Given the description of an element on the screen output the (x, y) to click on. 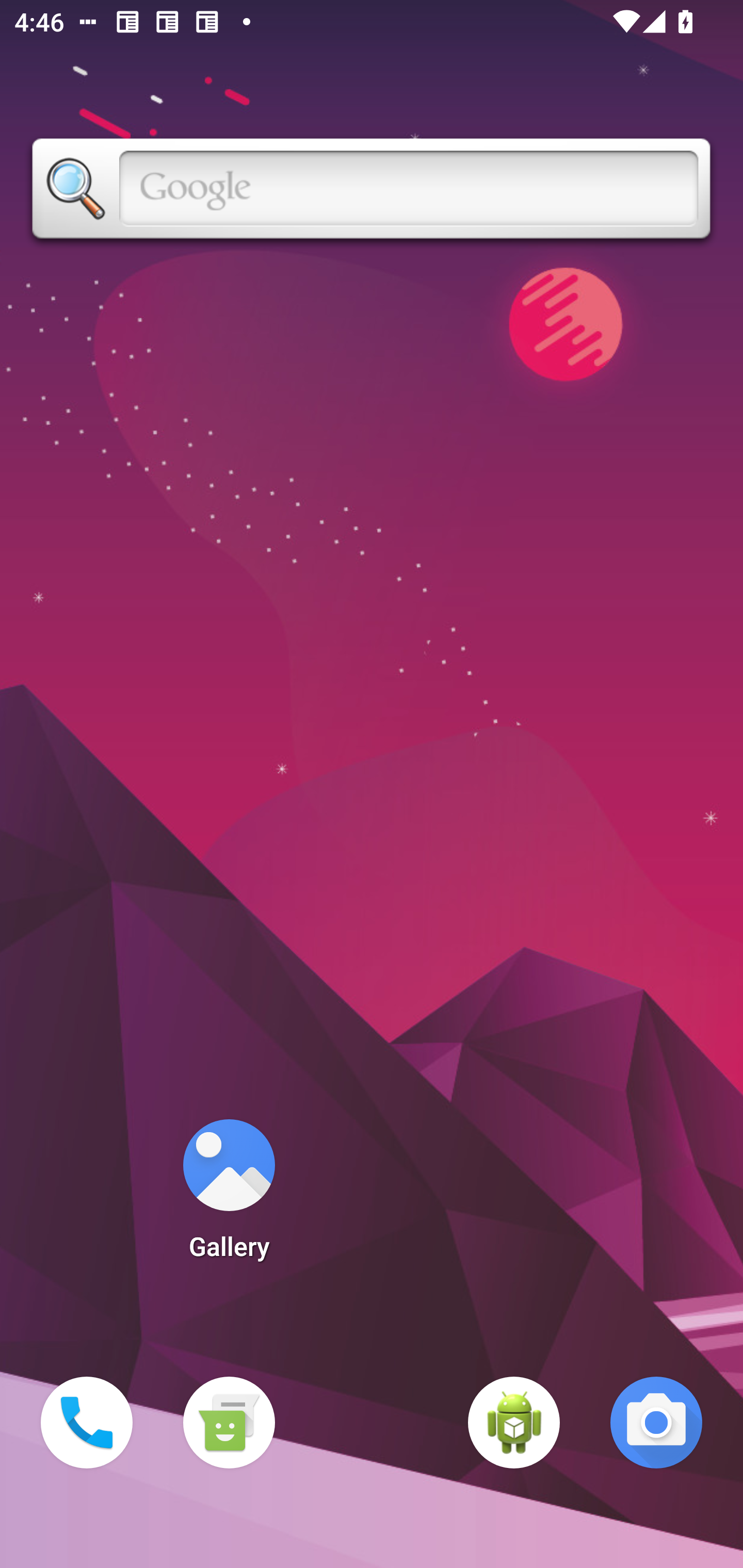
Gallery (228, 1195)
Phone (86, 1422)
Messaging (228, 1422)
WebView Browser Tester (513, 1422)
Camera (656, 1422)
